Given the description of an element on the screen output the (x, y) to click on. 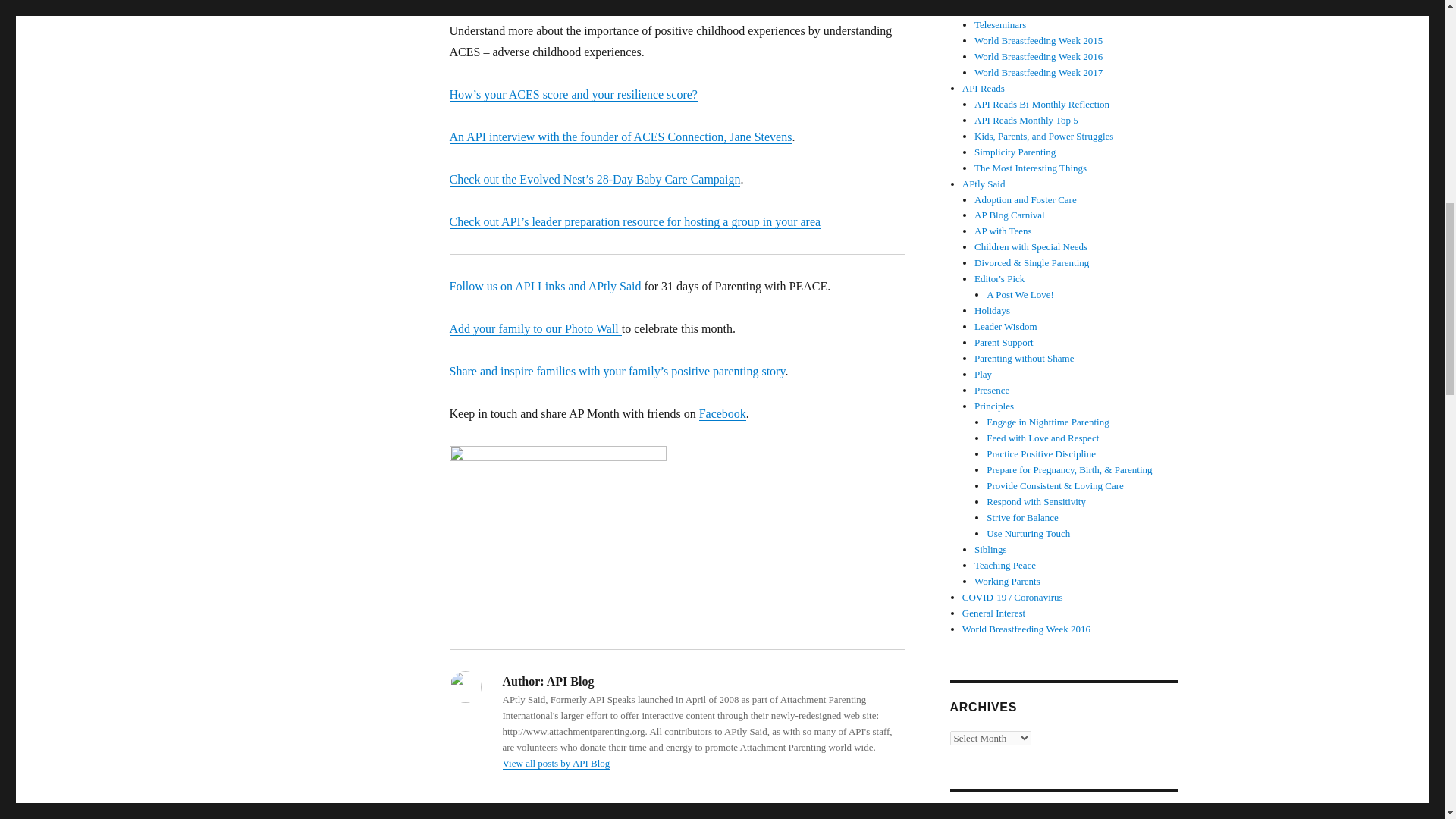
Follow us on API Links and APtly Said (544, 286)
View all posts by API Blog (556, 763)
Add your family to our Photo Wall  (534, 328)
Facebook (721, 413)
Reading of the book "Kids, Parents, and Power Struggles". (1043, 135)
